Given the description of an element on the screen output the (x, y) to click on. 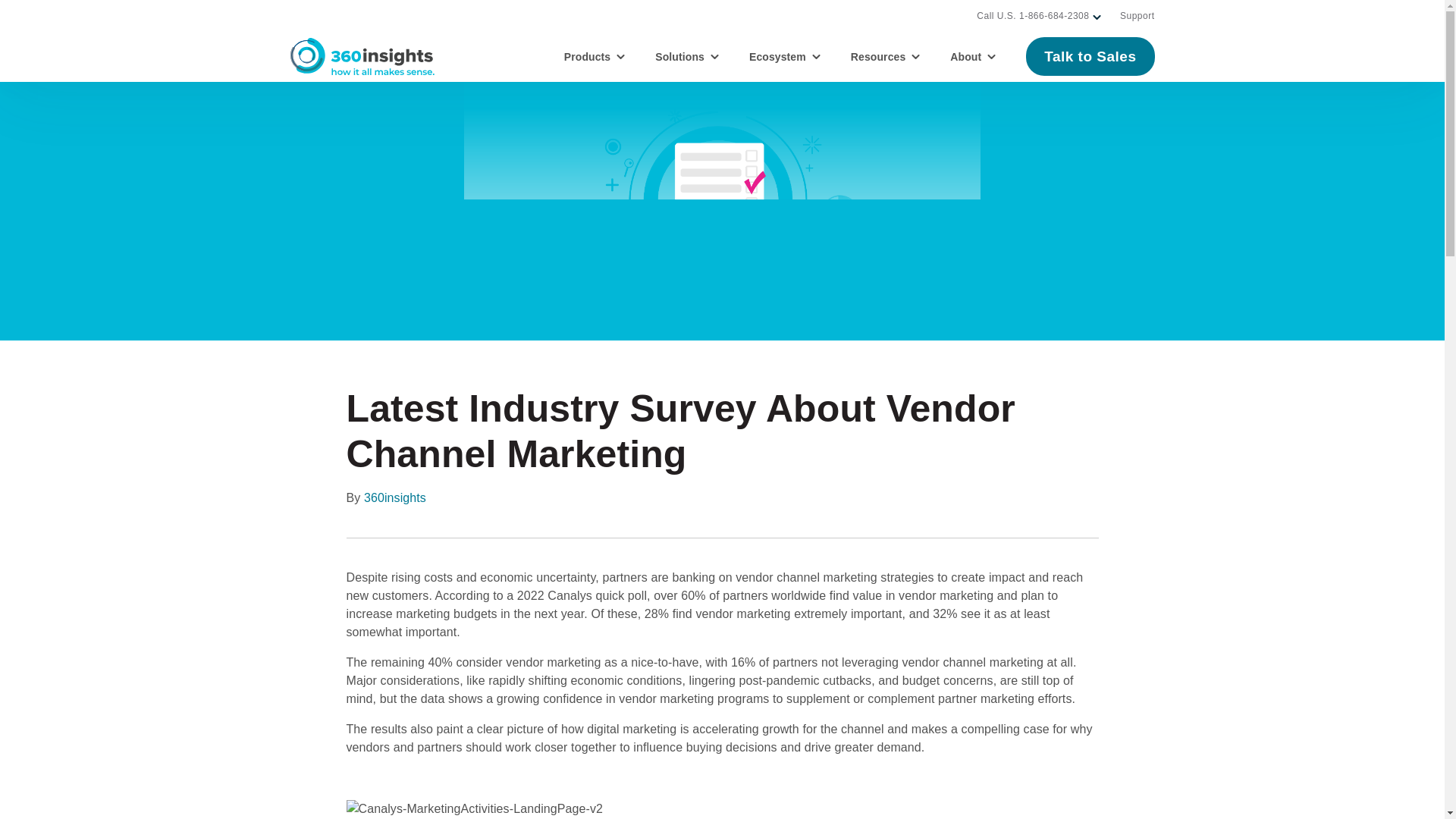
360insights how it all makes sense logo (361, 56)
Ecosystem (785, 56)
Solutions (687, 56)
Navigation Menu Toggle (6, 4)
Call U.S. 1-866-684-2308 (1032, 15)
Products (594, 56)
Support (1136, 15)
